Given the description of an element on the screen output the (x, y) to click on. 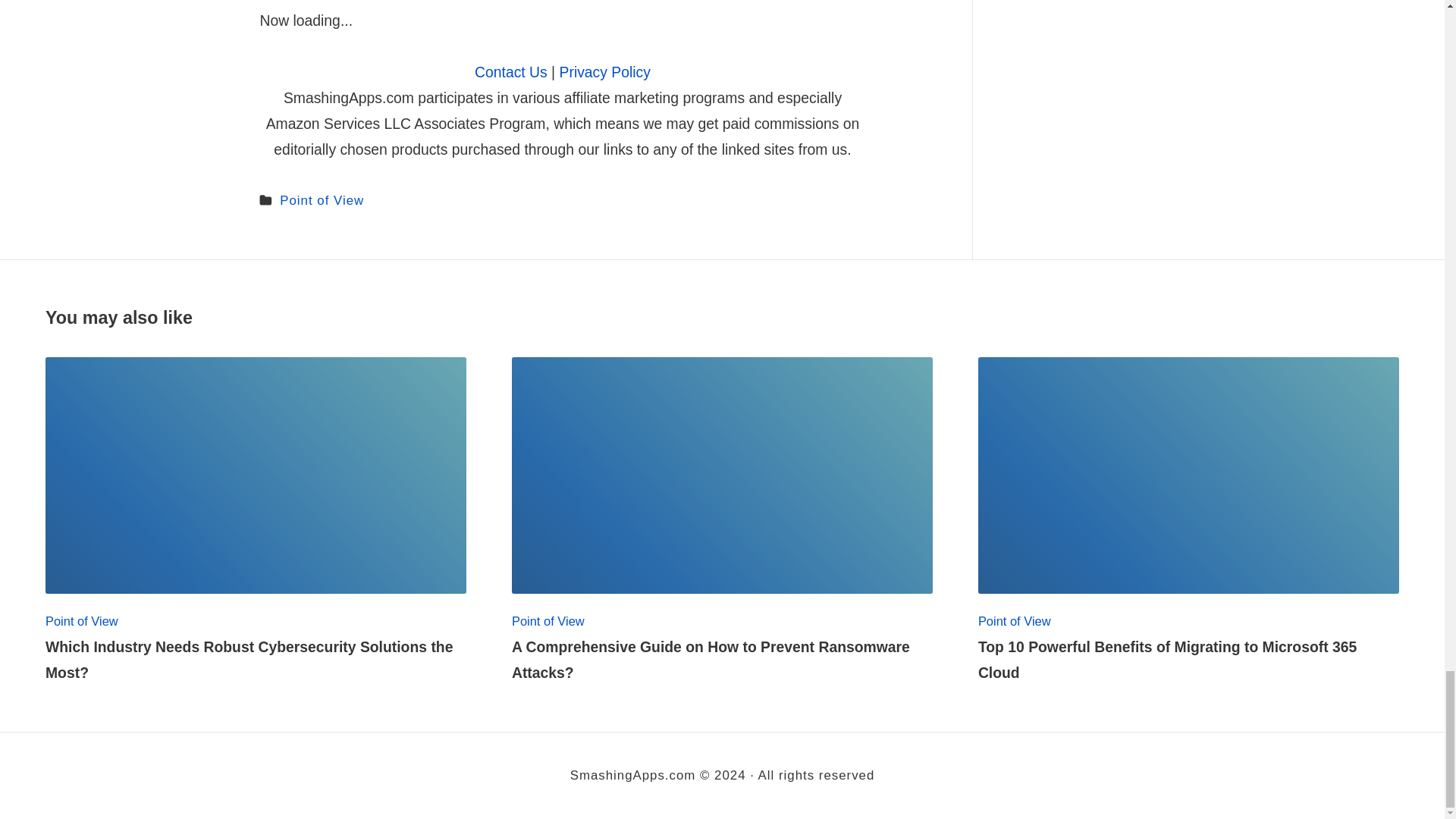
Point of View (321, 200)
Privacy Policy (604, 71)
Contact Us (510, 71)
